Given the description of an element on the screen output the (x, y) to click on. 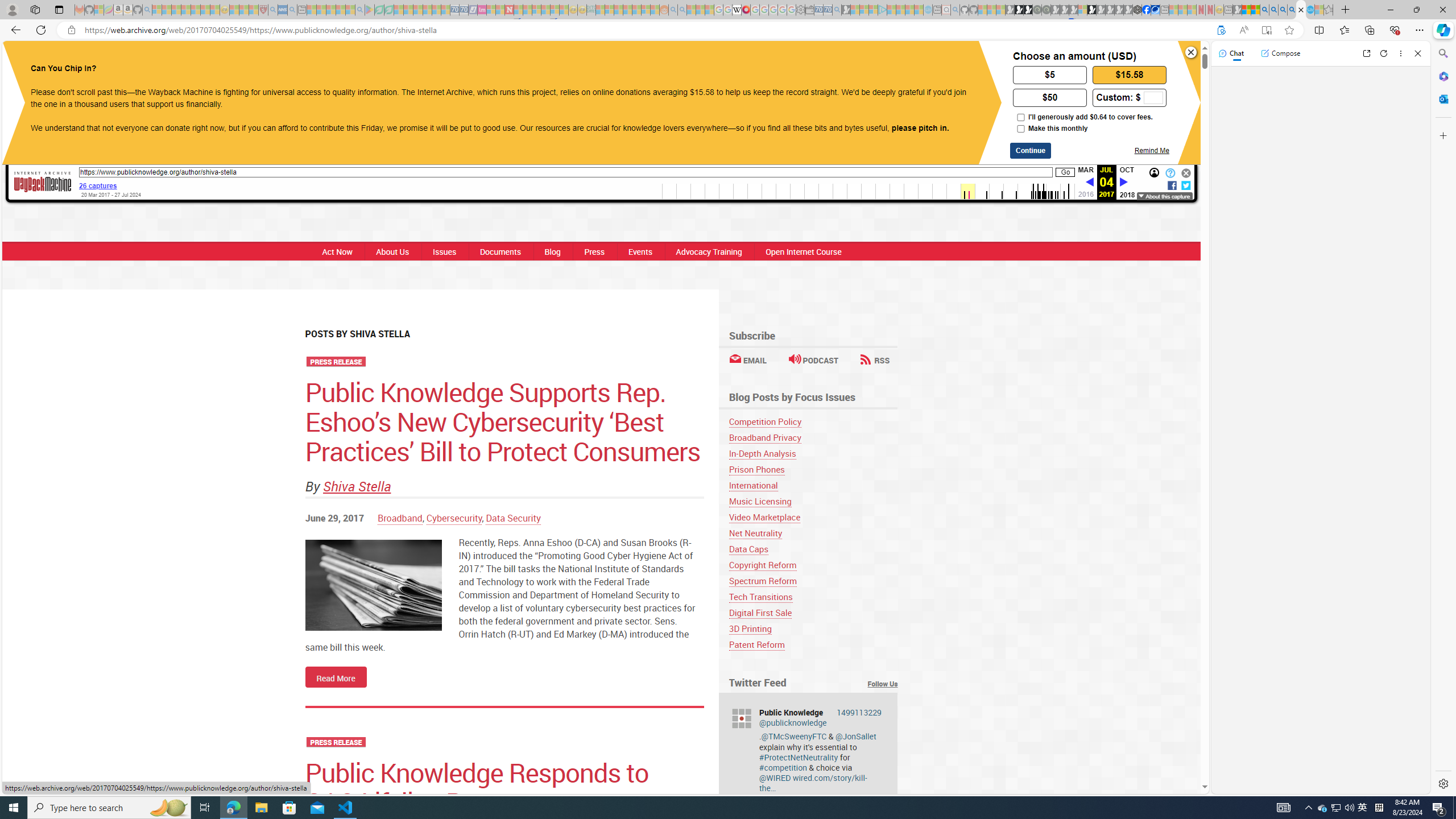
Copyright Reform (813, 564)
RSS (874, 360)
International (813, 485)
publicknowledge (740, 718)
YOUTUBE (737, 60)
2009 Bing officially replaced Live Search on June 3 - Search (1272, 9)
@WIRED (774, 777)
Cybersecurity (453, 517)
